Given the description of an element on the screen output the (x, y) to click on. 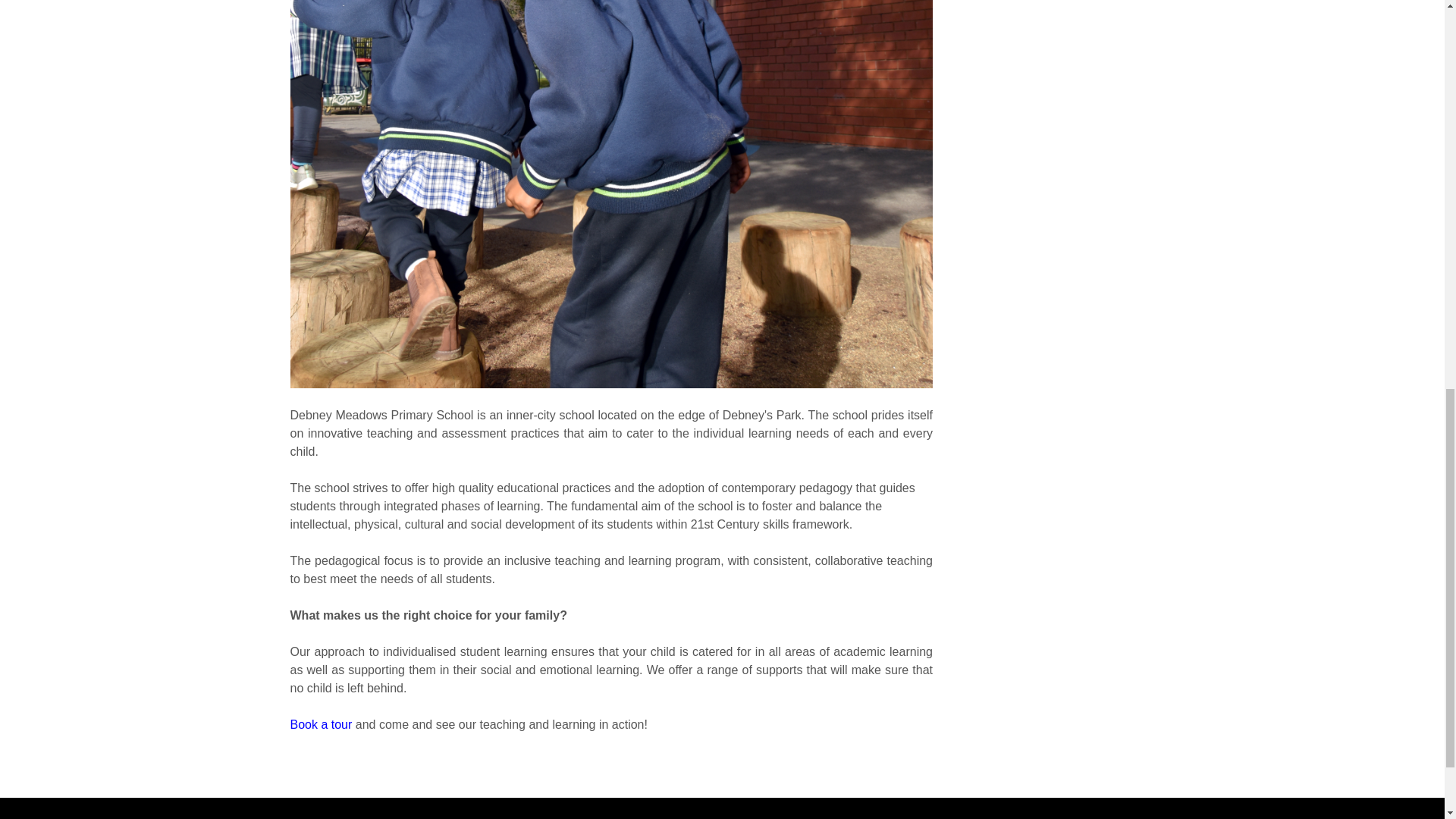
Book a tour (320, 724)
